Given the description of an element on the screen output the (x, y) to click on. 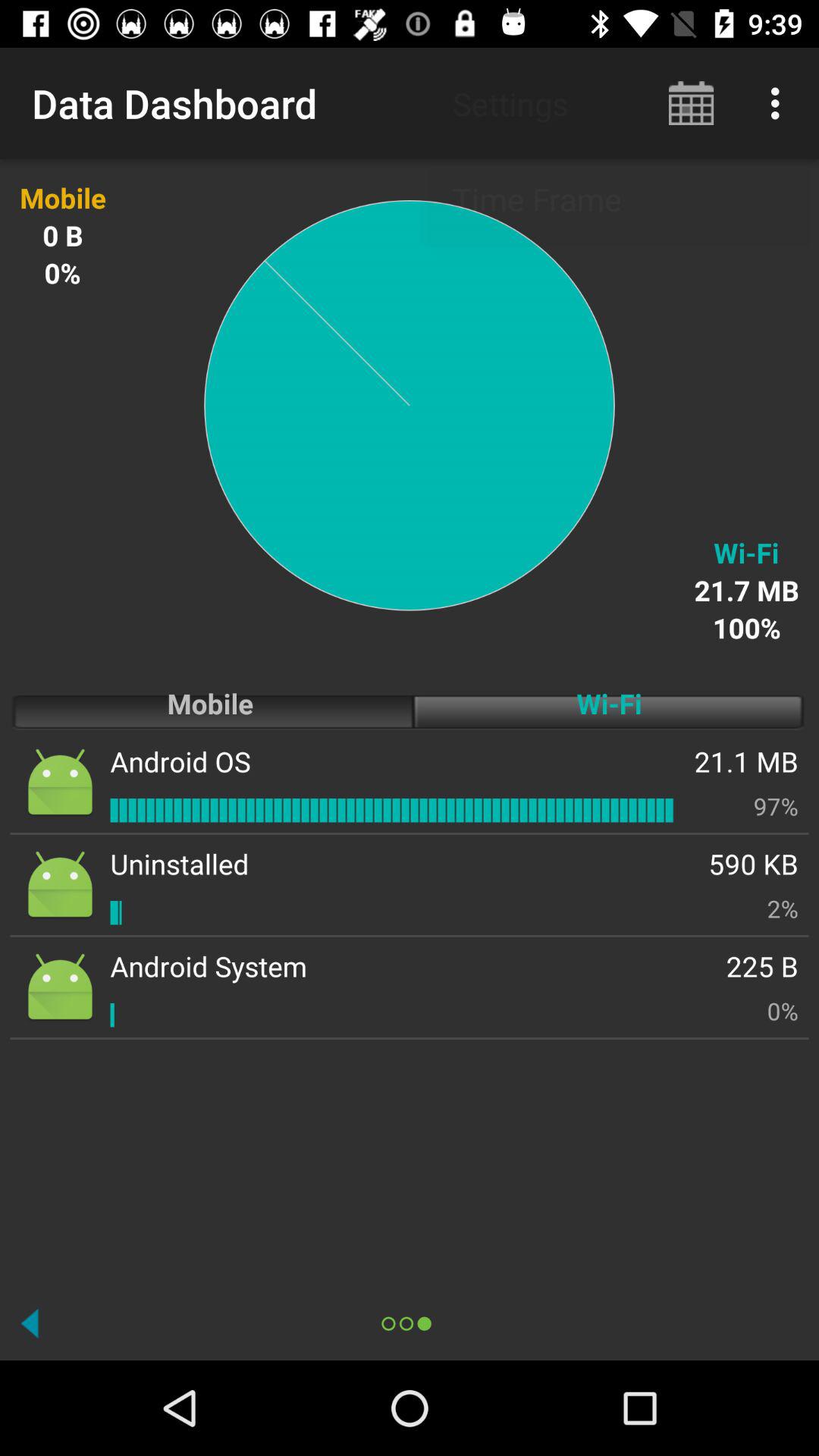
select app next to uninstalled icon (782, 908)
